Given the description of an element on the screen output the (x, y) to click on. 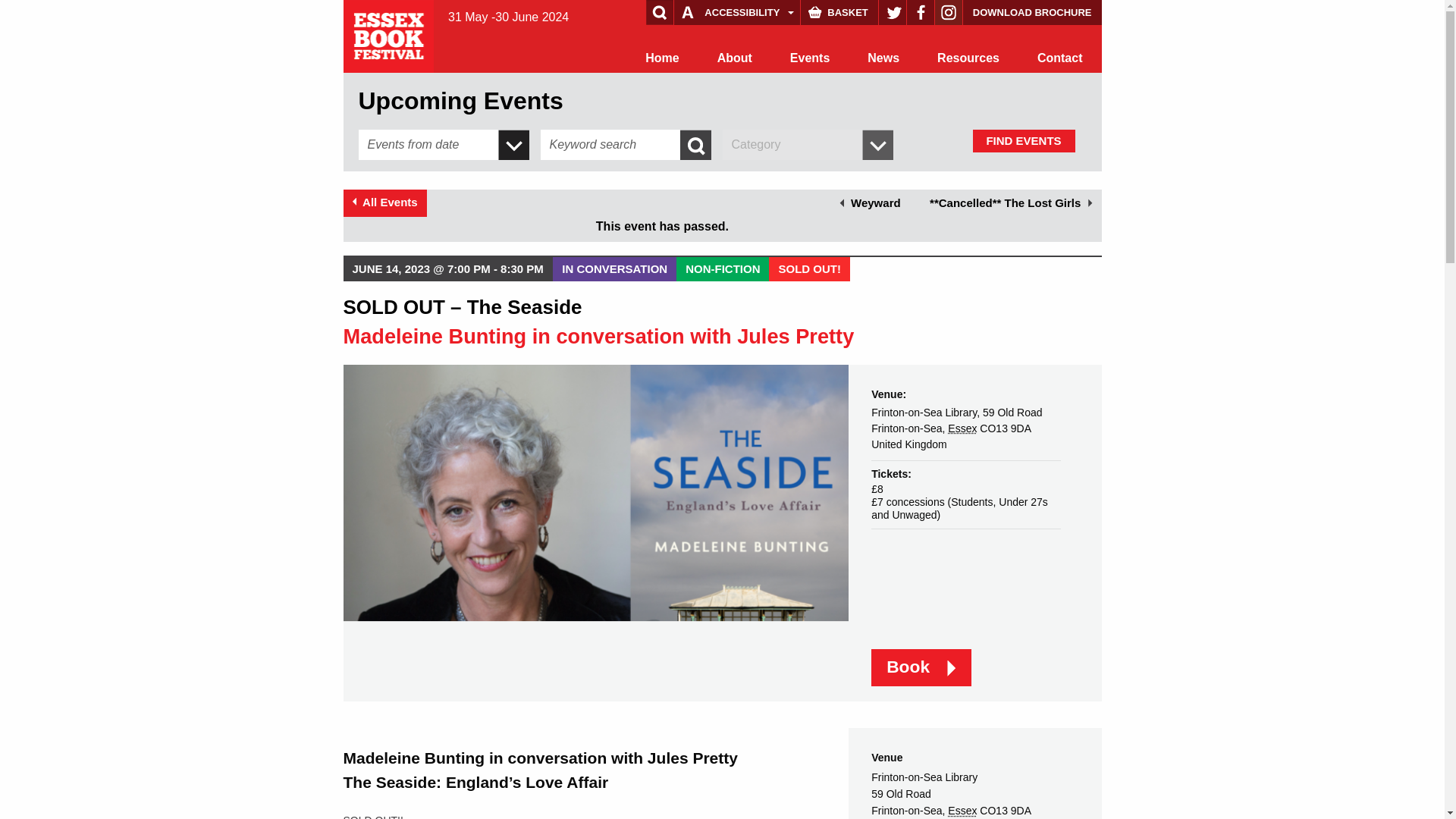
Facebook (920, 12)
Instagram (948, 12)
Weyward (869, 203)
Search site (41, 13)
About us (734, 58)
Facebook (920, 12)
ACCESSIBILITY (736, 12)
All Events (384, 203)
Download brochure (1032, 12)
Shopping basket (838, 12)
Events (809, 58)
DOWNLOAD BROCHURE (1032, 12)
Events (809, 58)
Twitter (892, 12)
Contact (1059, 58)
